Given the description of an element on the screen output the (x, y) to click on. 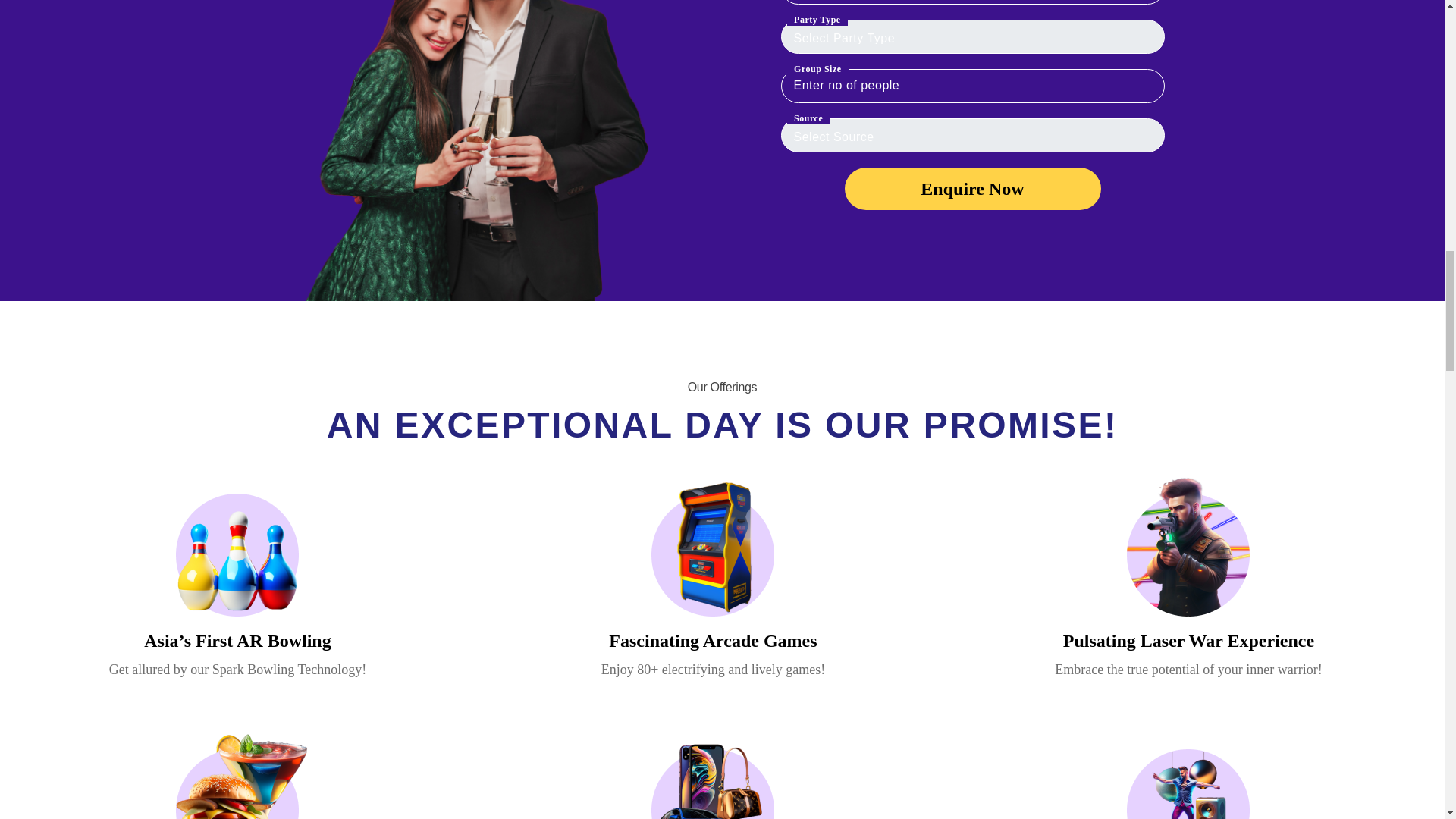
Enquire Now (972, 188)
